Given the description of an element on the screen output the (x, y) to click on. 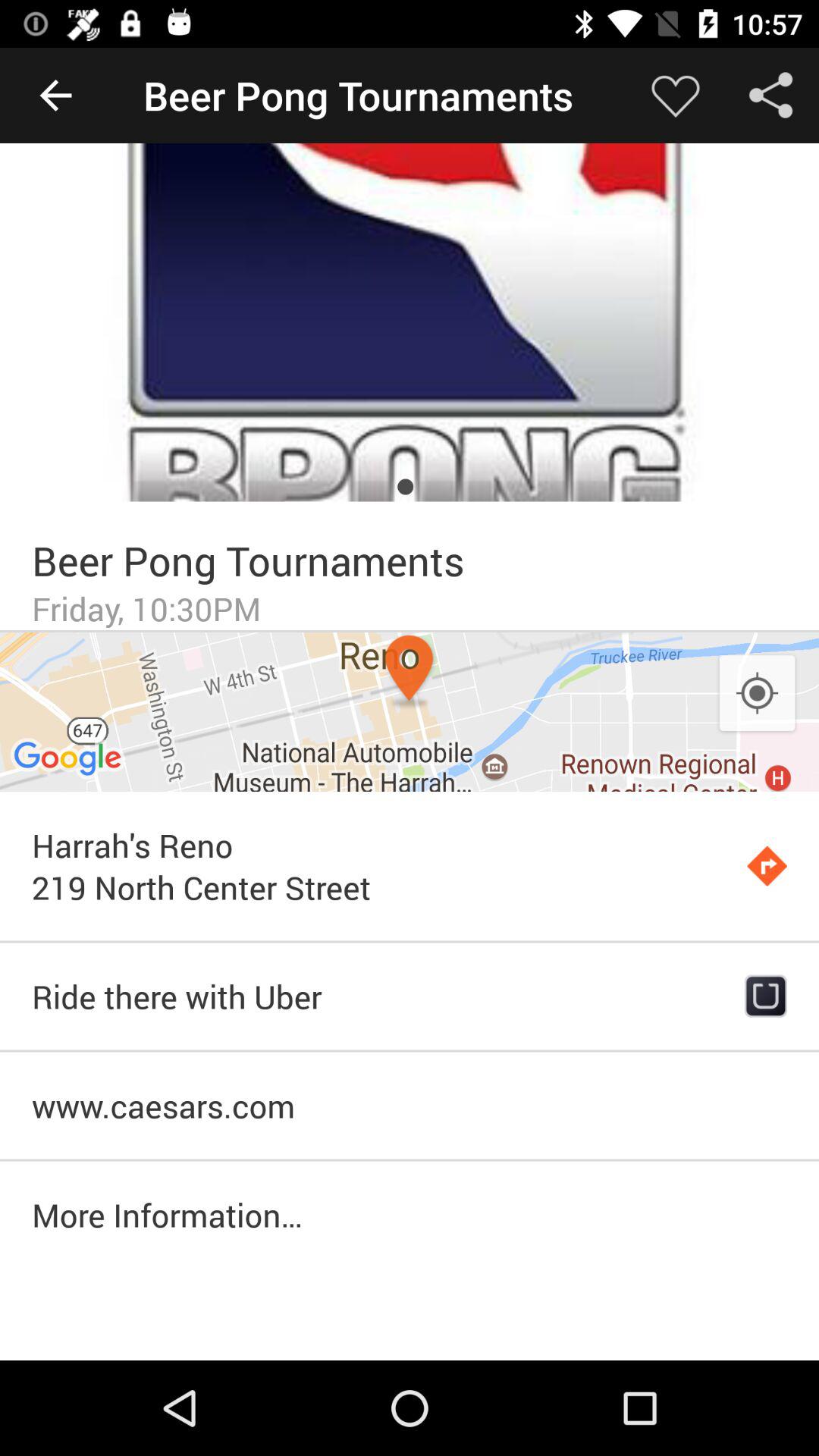
launch icon above harrah s reno (409, 711)
